Given the description of an element on the screen output the (x, y) to click on. 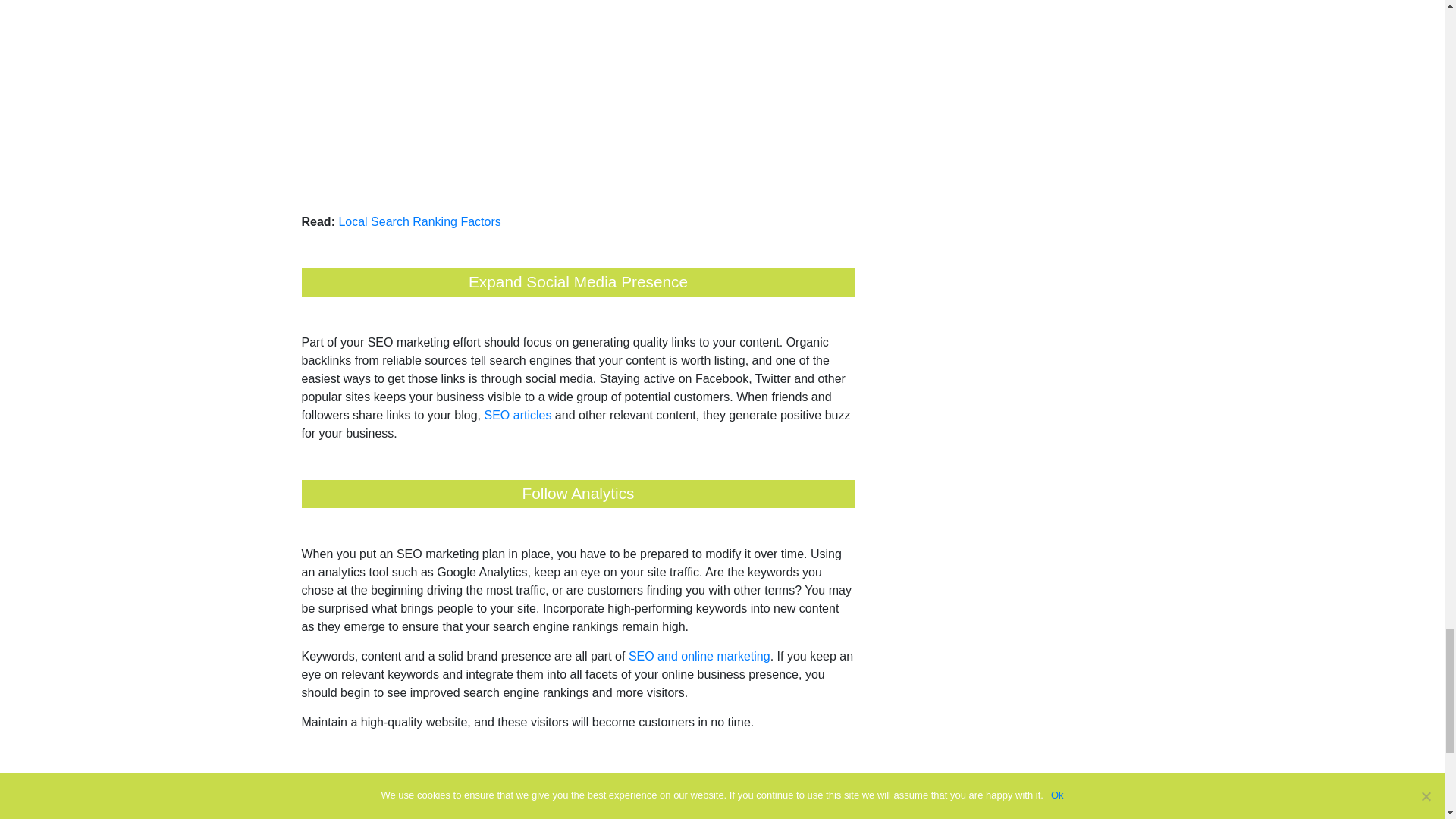
SEO articles (517, 414)
SEO and online marketing (699, 656)
Local Search Ranking Factors (418, 221)
